Given the description of an element on the screen output the (x, y) to click on. 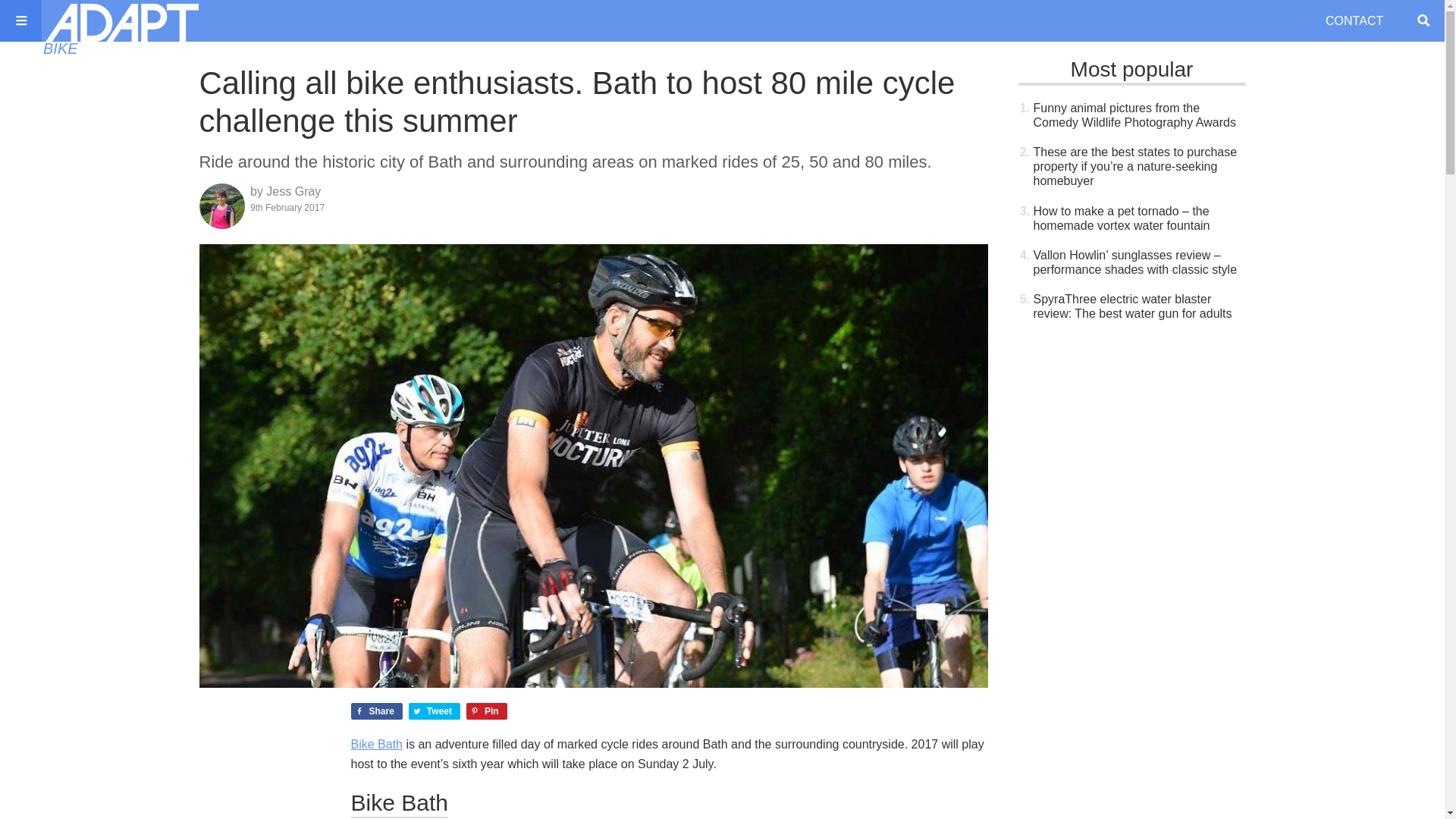
Search ADAPT Network (1423, 19)
Tweet (434, 710)
Share on Pinterest (485, 710)
Toggle Menu (21, 19)
BIKE (60, 48)
Share on Facebook (375, 710)
CONTACT (1356, 20)
Toggle Menu (21, 19)
Pin (485, 710)
Jess Gray (293, 191)
Share on Twitter (434, 710)
Share (375, 710)
Search ADAPT Network (1423, 19)
Bike Bath (375, 744)
